Given the description of an element on the screen output the (x, y) to click on. 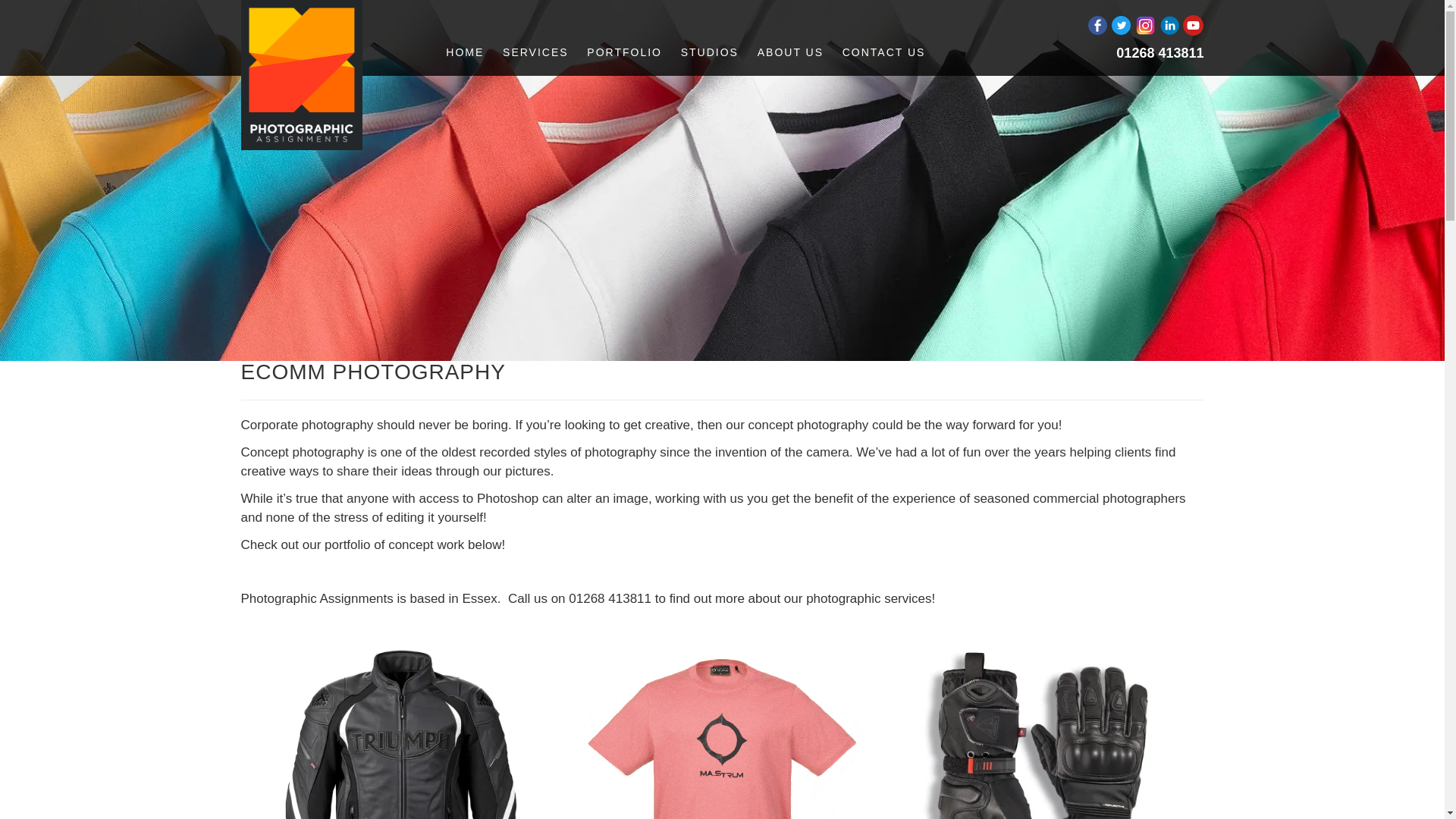
HOME (464, 60)
Mastrum-TShirt (721, 728)
MLPS20530 Front (400, 728)
SERVICES (535, 60)
